Given the description of an element on the screen output the (x, y) to click on. 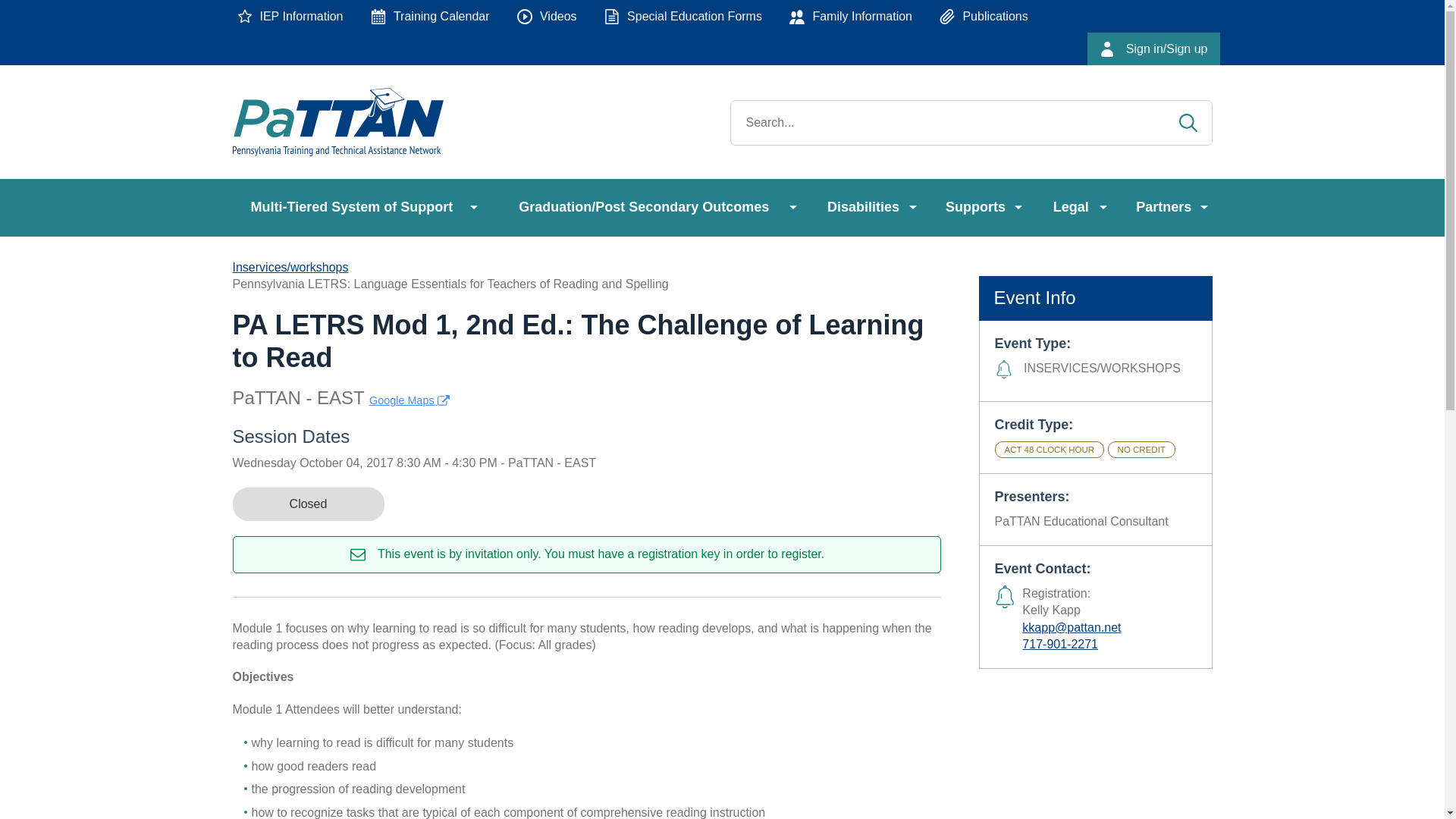
Family Information (850, 16)
Videos (547, 16)
Submit Search (1186, 122)
Publications (983, 16)
Supports (980, 207)
Multi-Tiered System of Support (356, 207)
IEP Information (289, 16)
Disabilities (868, 207)
Special Education Forms (683, 16)
Training Calendar (430, 16)
